Given the description of an element on the screen output the (x, y) to click on. 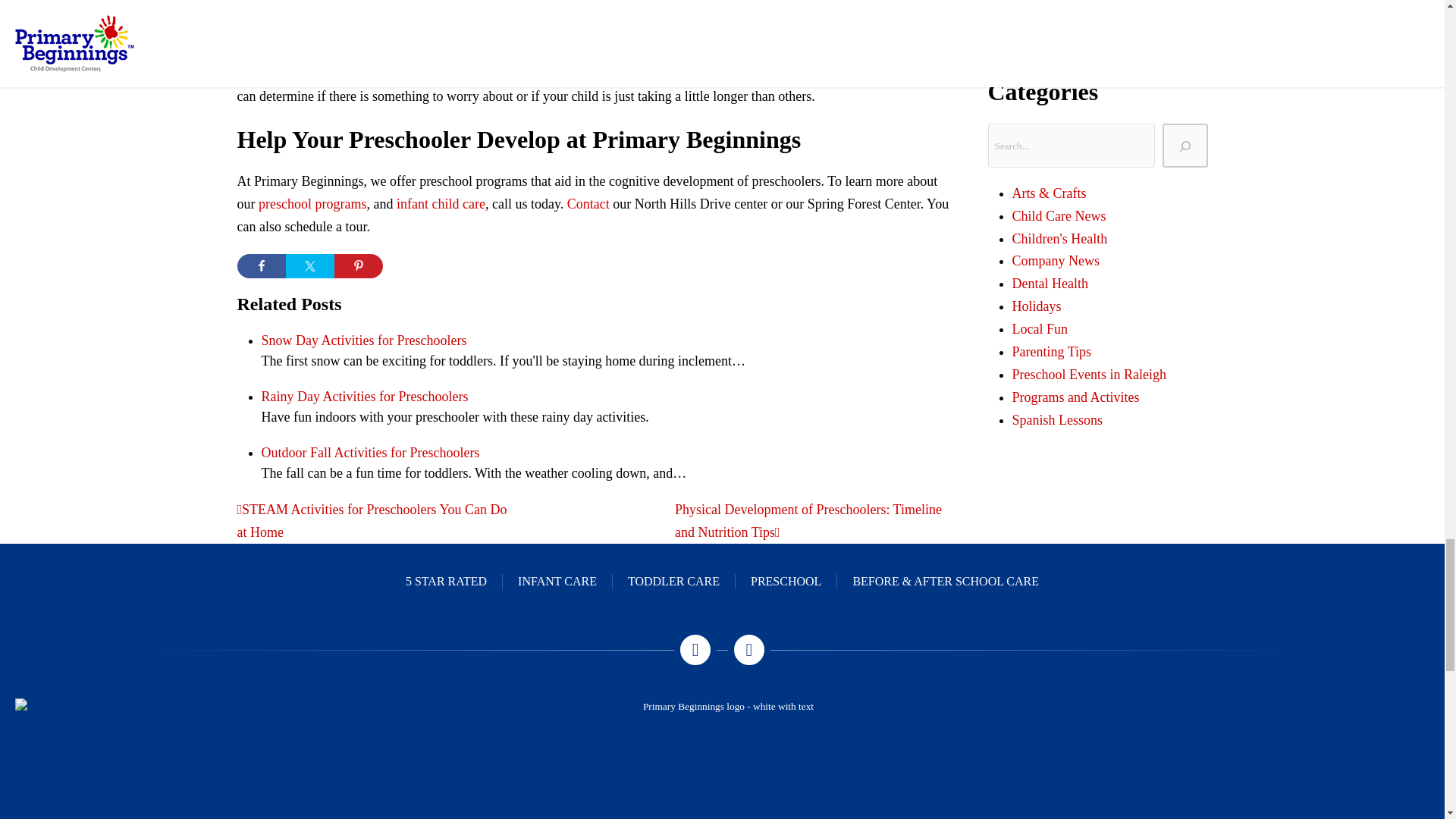
Share on Pinterest (357, 265)
Share on Twitter (309, 265)
Share on Facebook (260, 265)
